Given the description of an element on the screen output the (x, y) to click on. 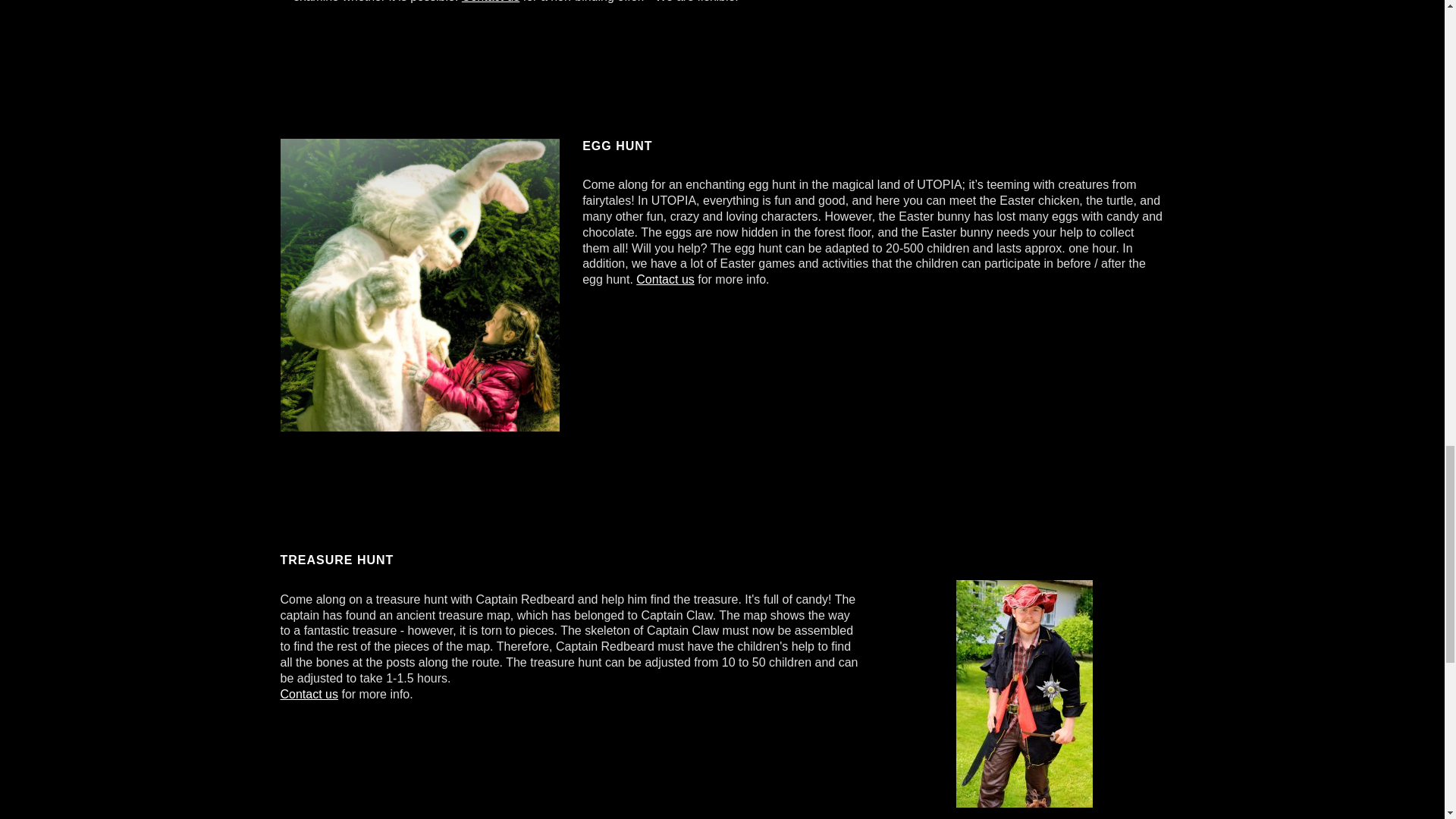
Contact us (665, 278)
Contact us (490, 1)
Easter Bunny - UTOPIA Egg Hunt Easter (420, 284)
Contact us (309, 694)
